Given the description of an element on the screen output the (x, y) to click on. 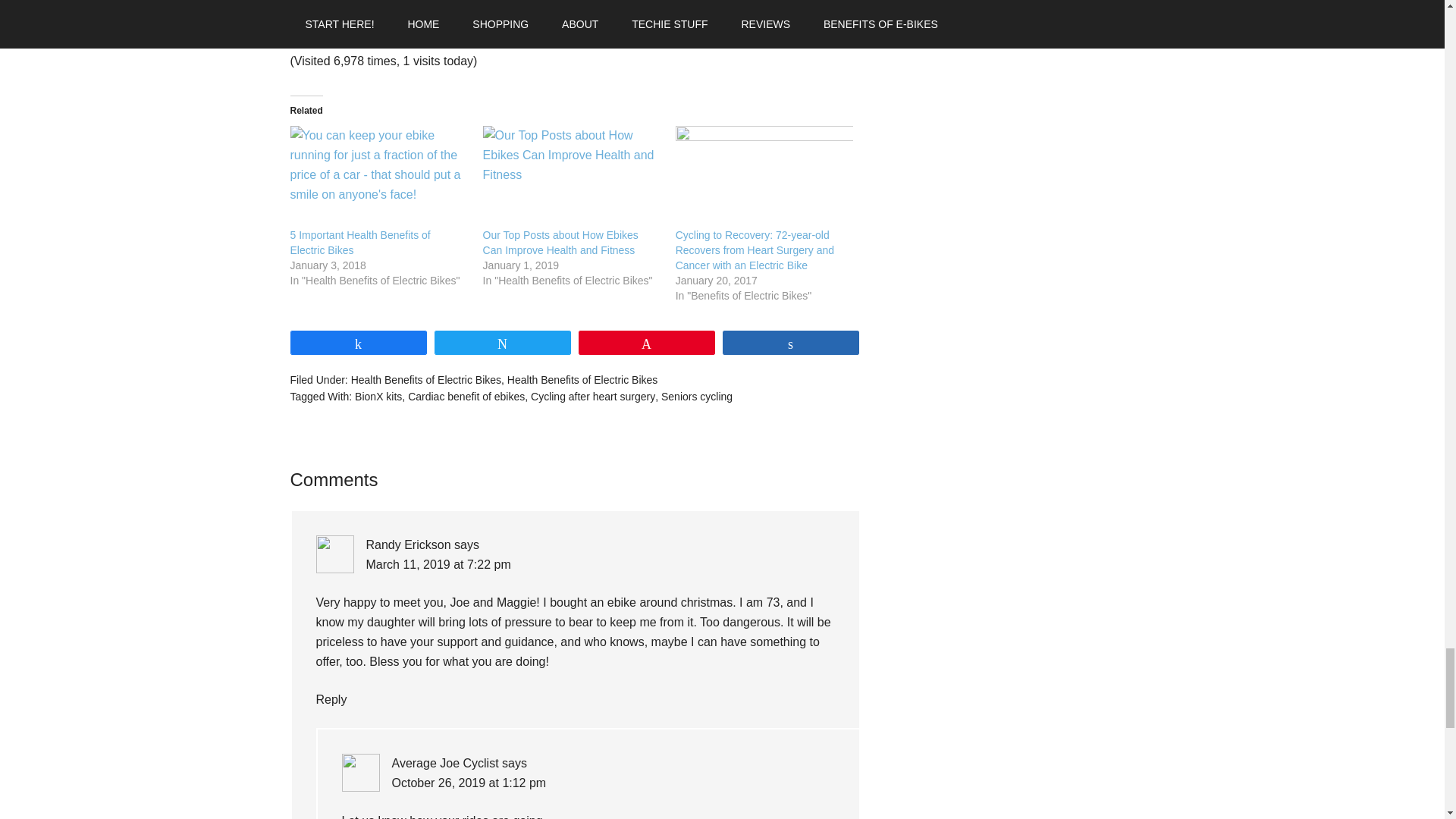
5 Important Health Benefits of Electric Bikes (378, 176)
5 Important Health Benefits of Electric Bikes (359, 242)
